Given the description of an element on the screen output the (x, y) to click on. 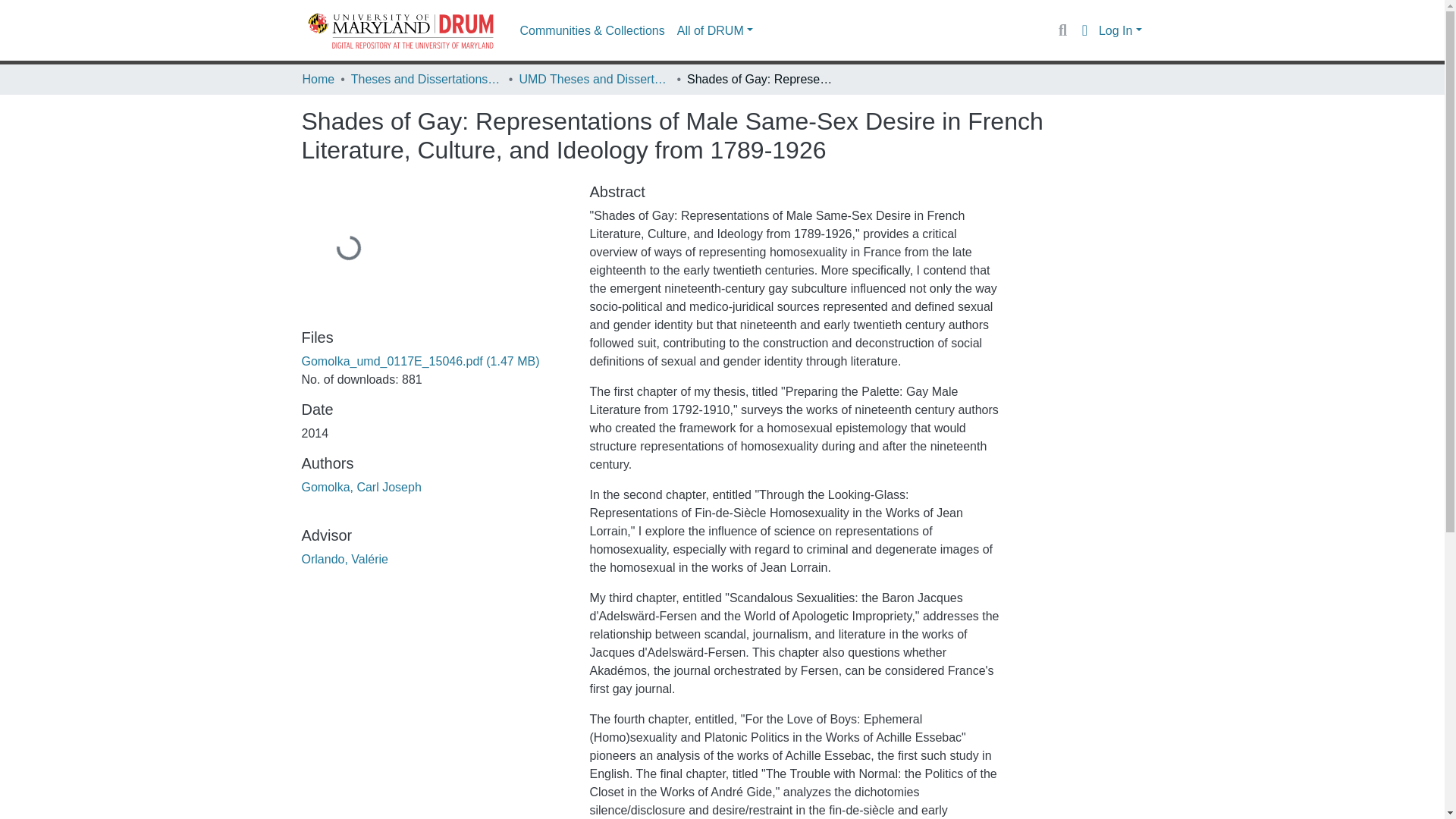
Language switch (1084, 30)
UMD Theses and Dissertations (593, 79)
Log In (1119, 30)
Theses and Dissertations from UMD (426, 79)
All of DRUM (714, 30)
Search (1061, 30)
Gomolka, Carl Joseph (361, 486)
Home (317, 79)
